Given the description of an element on the screen output the (x, y) to click on. 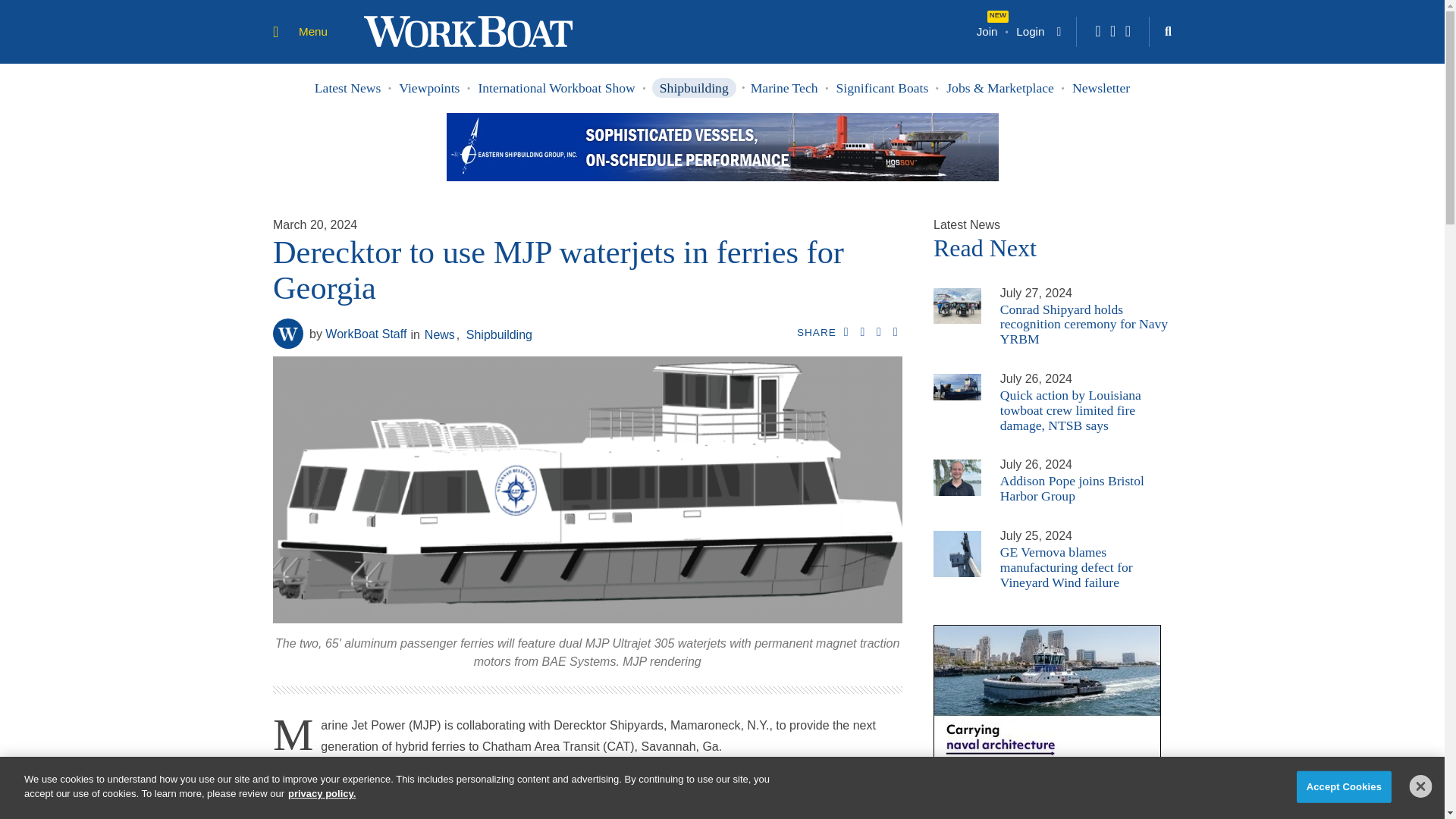
Conrad Shipyard holds recognition ceremony for Navy YRBM (957, 305)
WorkBoat Staff (357, 334)
WorkBoat Staff (287, 333)
WorkBoat (468, 30)
